Given the description of an element on the screen output the (x, y) to click on. 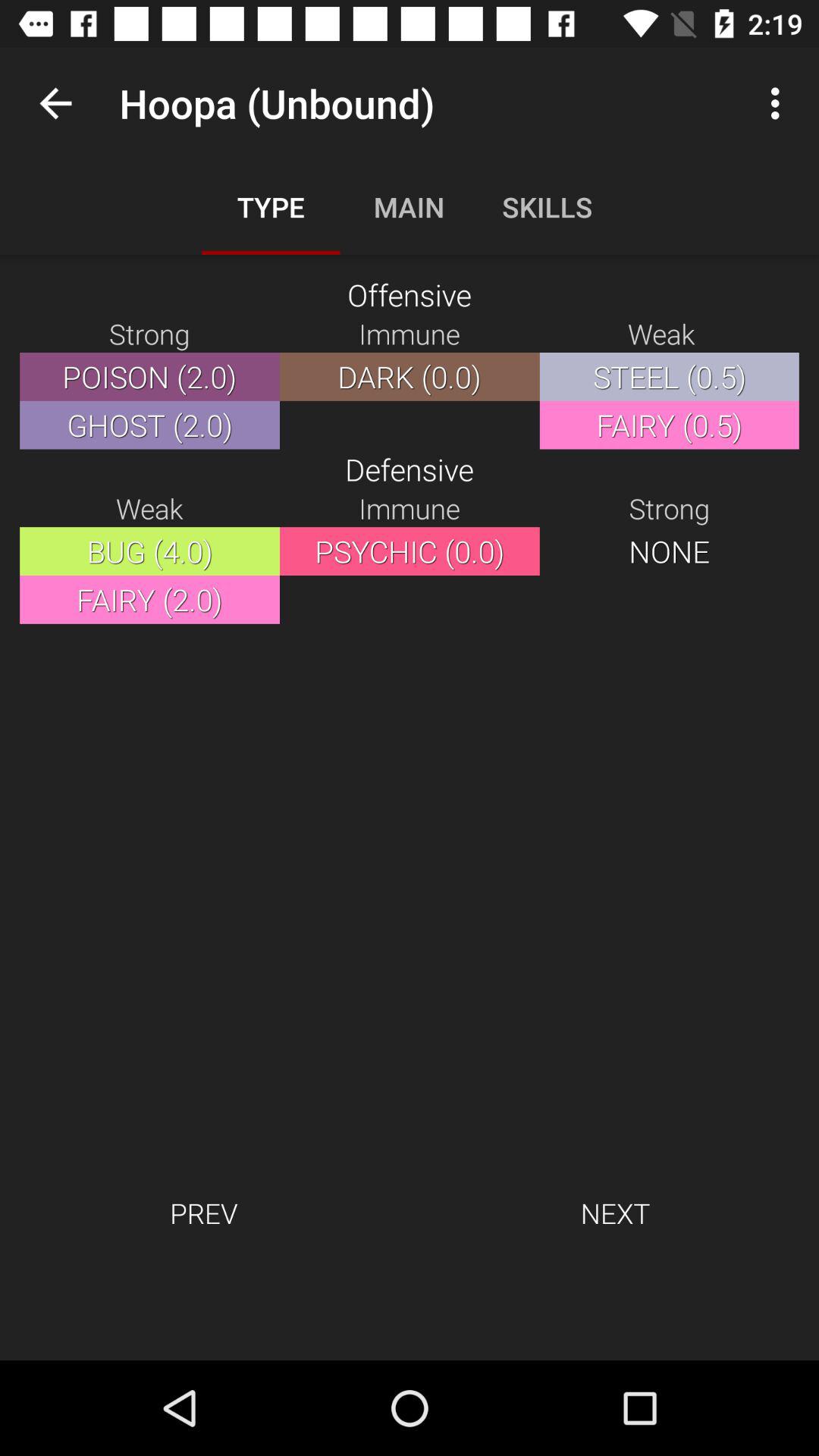
select prev item (203, 1212)
